Given the description of an element on the screen output the (x, y) to click on. 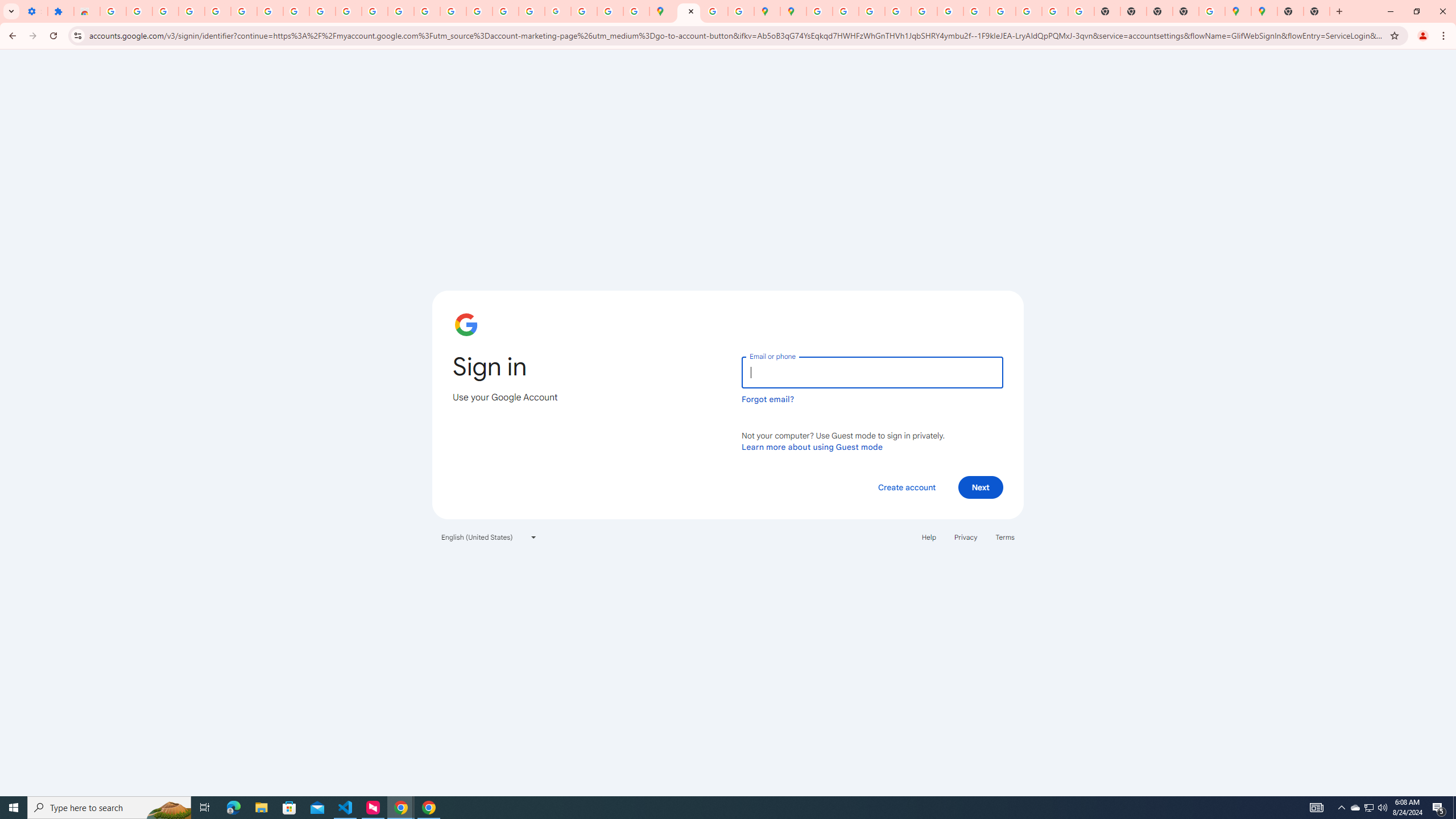
Create account (905, 486)
Sign in - Google Accounts (217, 11)
YouTube (348, 11)
Sign in - Google Accounts (112, 11)
Google Account Help (243, 11)
